Given the description of an element on the screen output the (x, y) to click on. 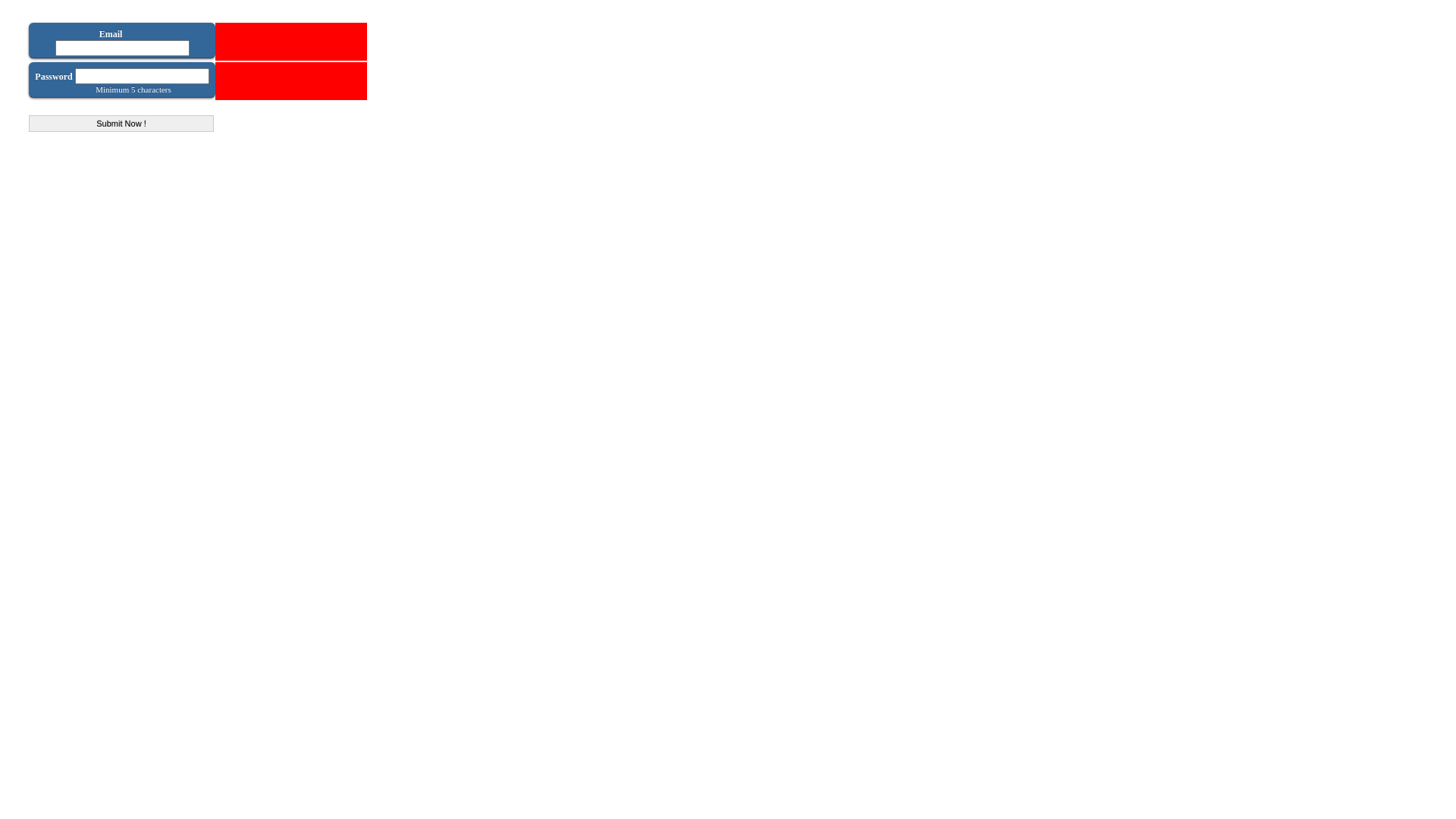
Submit Now ! Element type: text (120, 123)
